Given the description of an element on the screen output the (x, y) to click on. 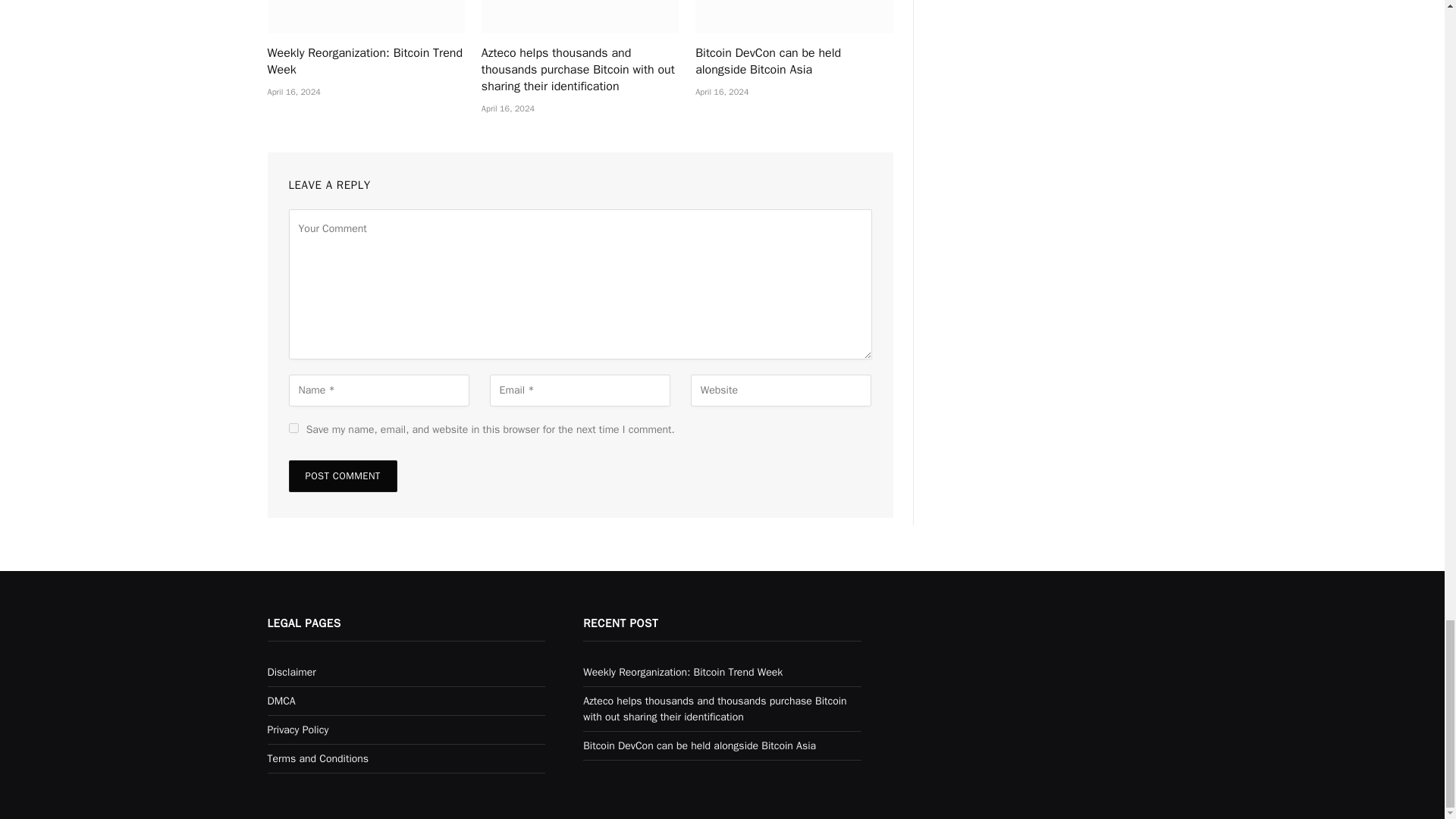
Weekly Reorganization: Bitcoin Trend Week (365, 61)
Bitcoin DevCon can be held alongside Bitcoin Asia (793, 17)
yes (293, 428)
Weekly Reorganization: Bitcoin Trend Week (365, 17)
Post Comment (342, 476)
